Given the description of an element on the screen output the (x, y) to click on. 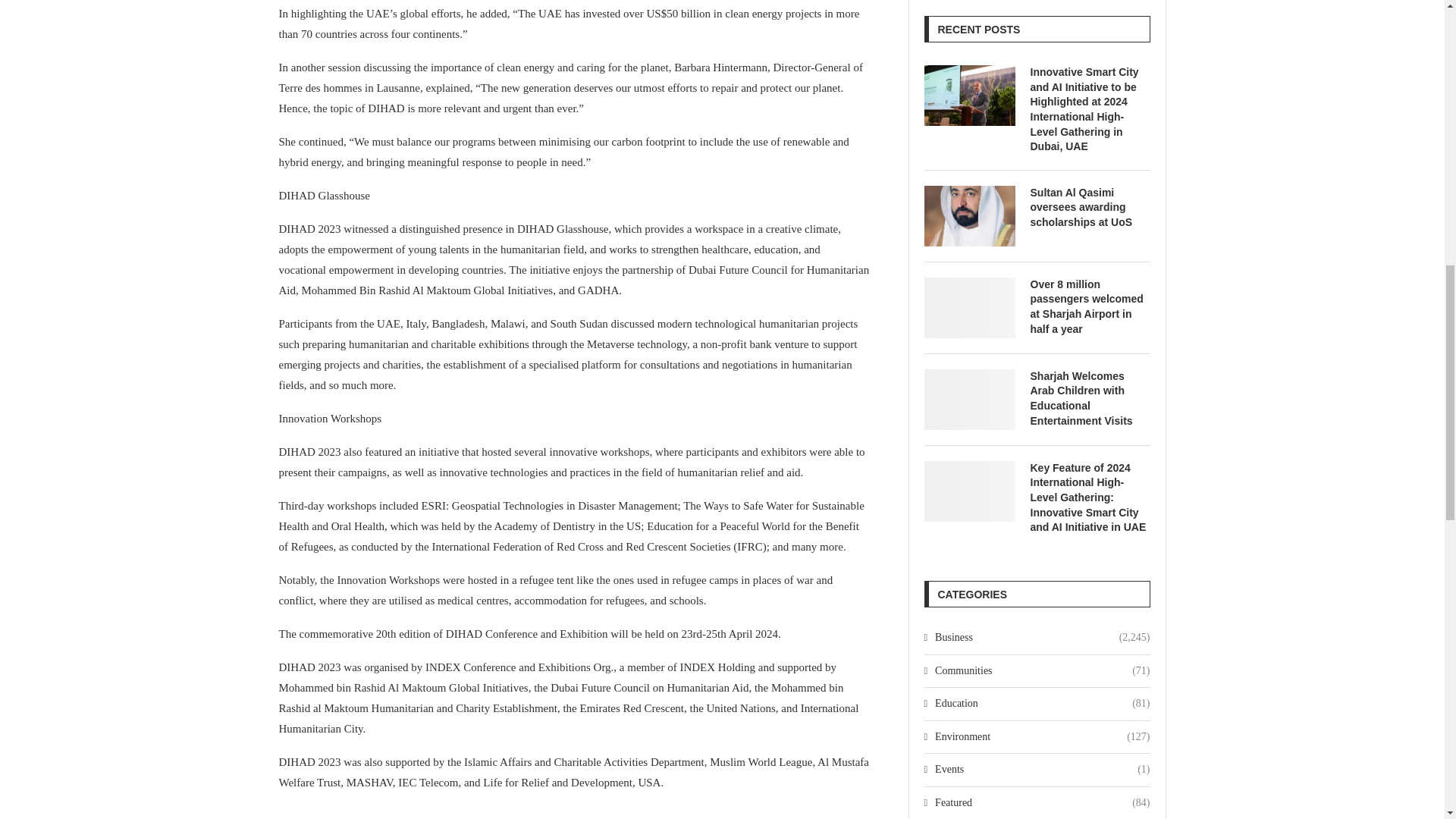
Sultan Al Qasimi oversees awarding scholarships at UoS (1089, 207)
Sultan Al Qasimi oversees awarding scholarships at UoS (968, 215)
